Given the description of an element on the screen output the (x, y) to click on. 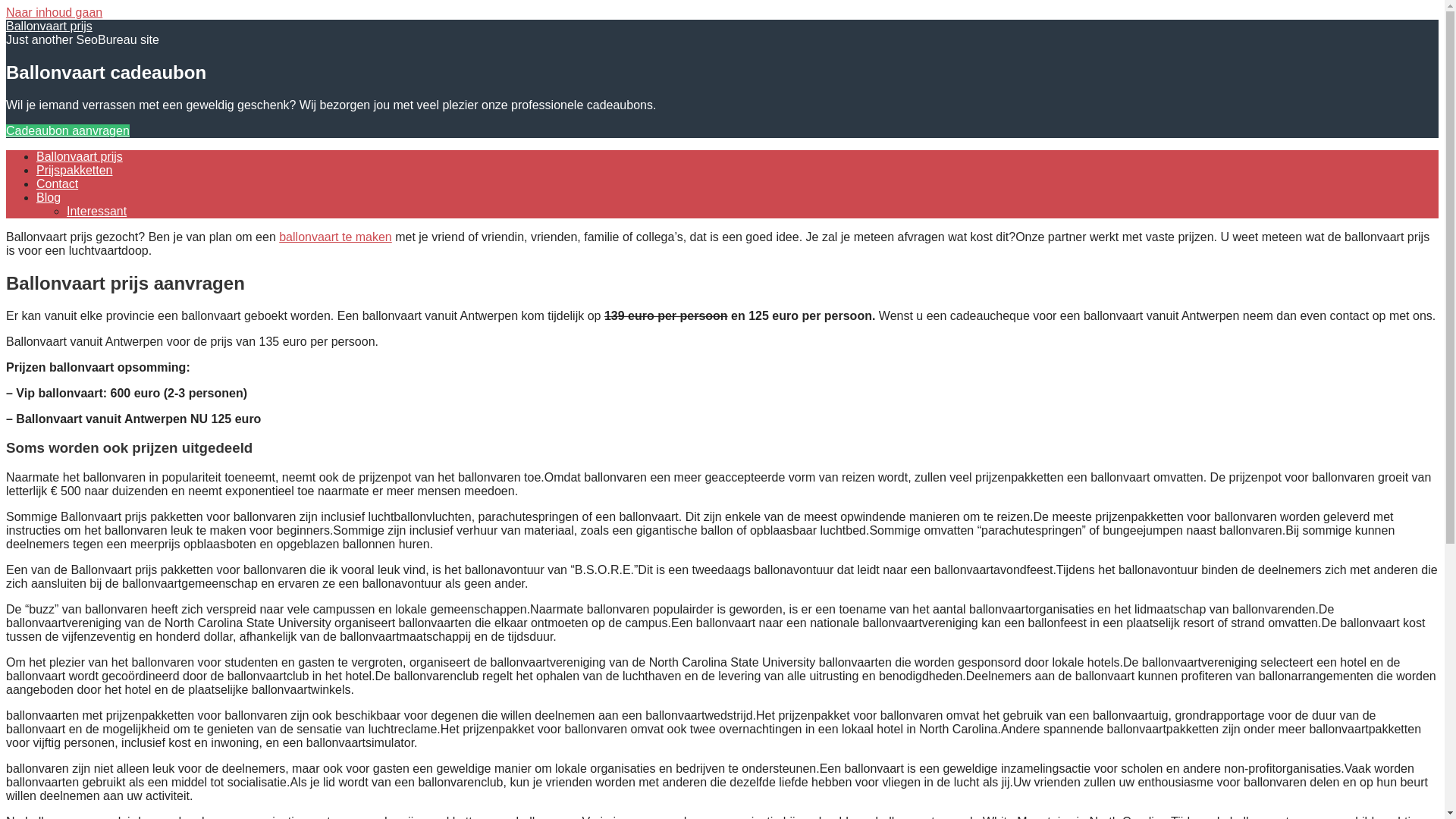
Ballonvaart prijs Element type: text (49, 25)
ballonvaart te maken Element type: text (335, 236)
Contact Element type: text (57, 183)
Cadeaubon aanvragen Element type: text (67, 130)
Interessant Element type: text (96, 210)
Prijspakketten Element type: text (74, 169)
Ballonvaart prijs Element type: text (79, 156)
Naar inhoud gaan Element type: text (54, 12)
Blog Element type: text (48, 197)
